Given the description of an element on the screen output the (x, y) to click on. 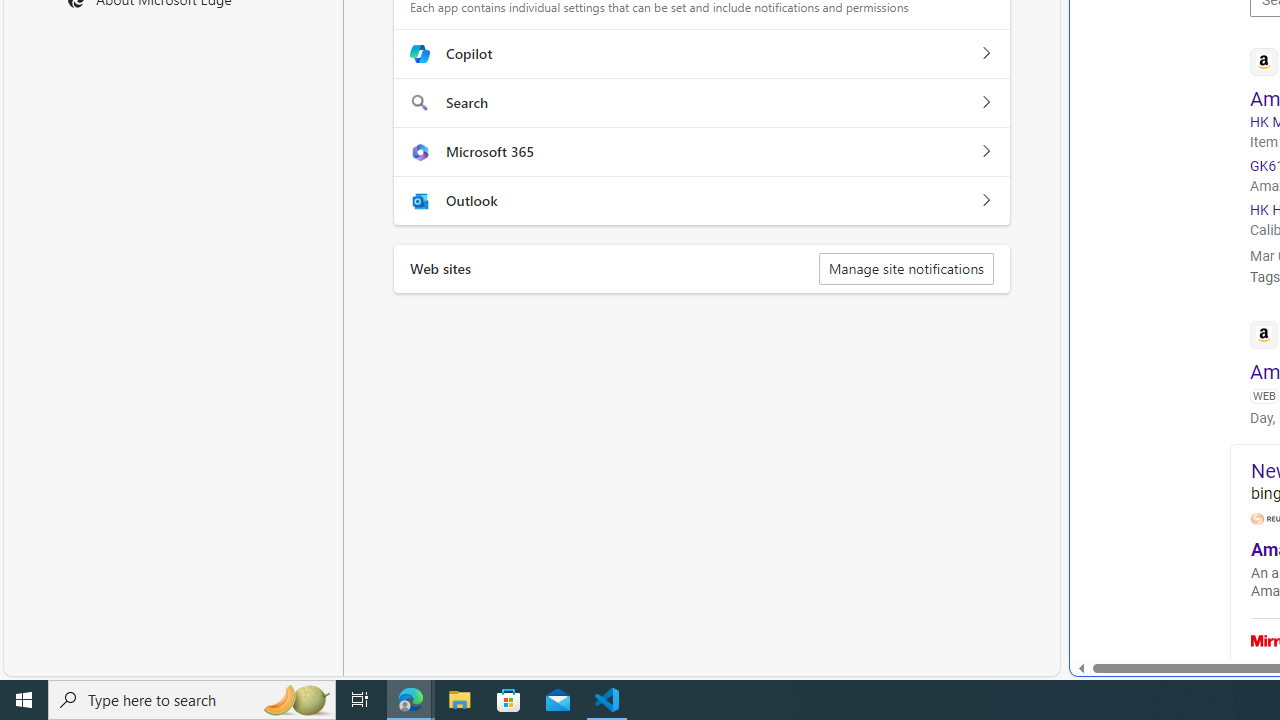
Global web icon (1263, 334)
Copilot (985, 54)
Manage site notifications (905, 268)
Outlook (985, 200)
